Given the description of an element on the screen output the (x, y) to click on. 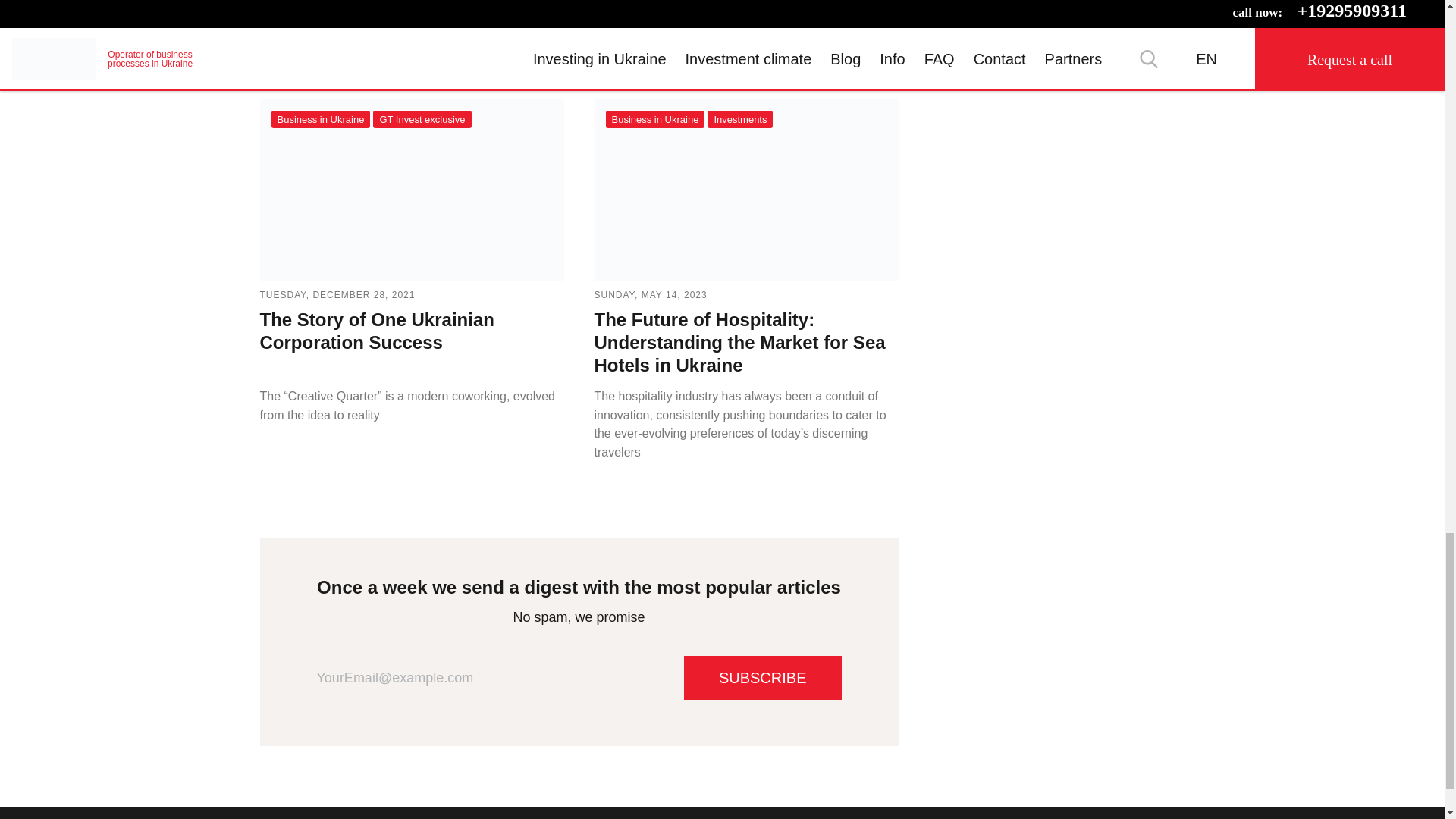
Investments (740, 118)
Business in Ukraine (320, 118)
Business in Ukraine (654, 118)
GT Invest exclusive (421, 118)
